Given the description of an element on the screen output the (x, y) to click on. 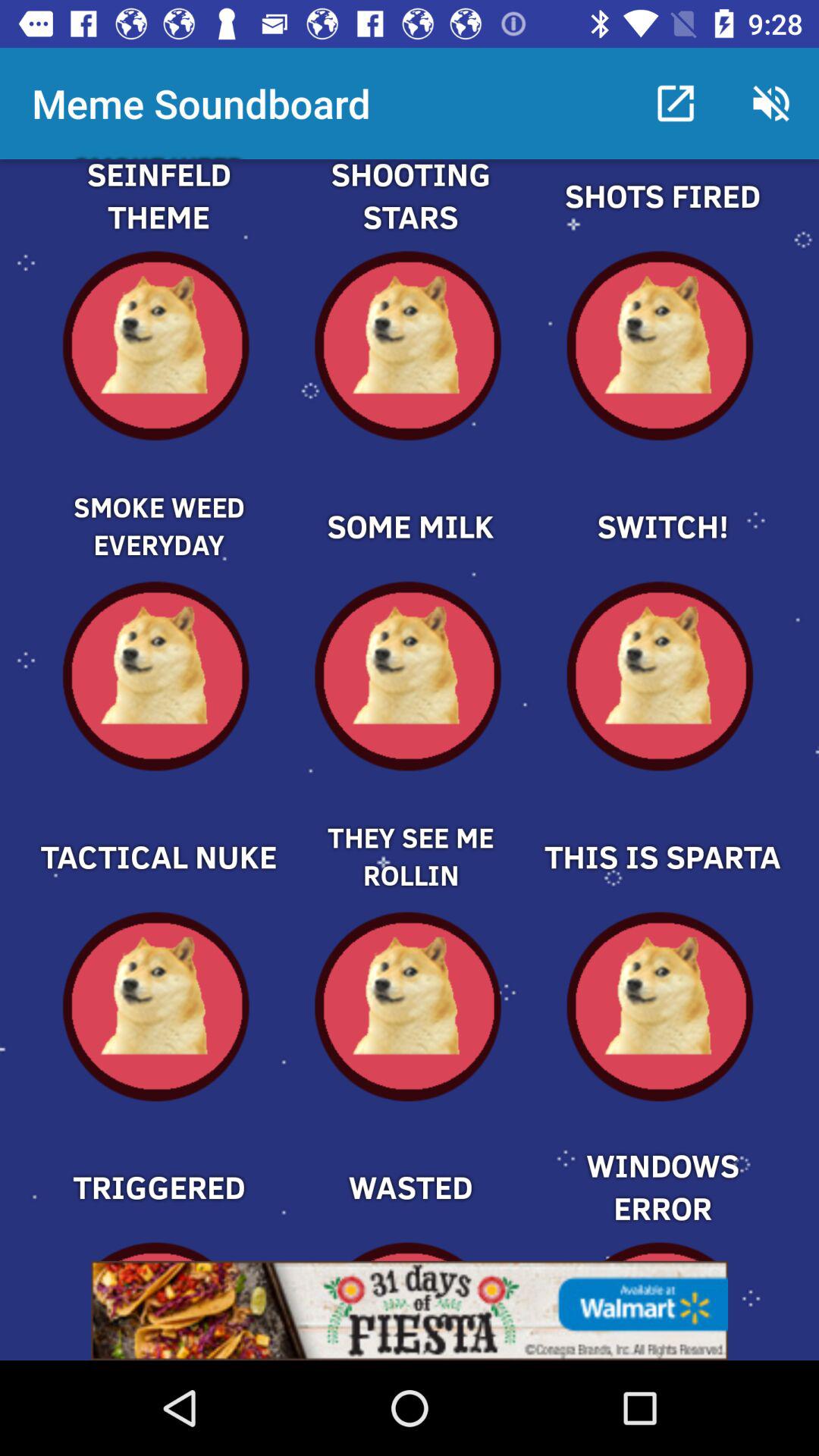
choose windows error (660, 1160)
